Given the description of an element on the screen output the (x, y) to click on. 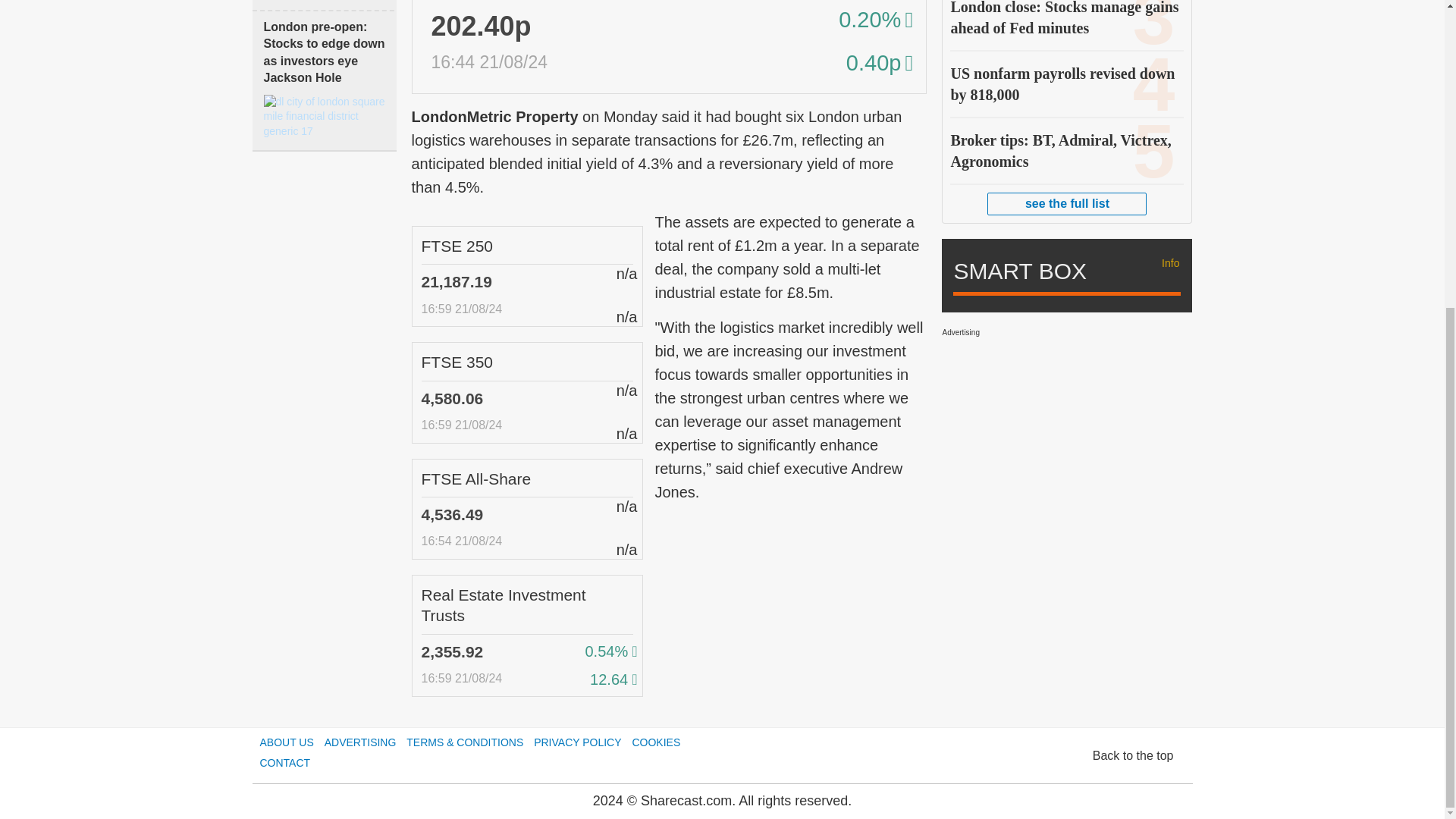
FTSE All-Share (476, 478)
federal reserve dl bonds us usa dollar fx (325, 744)
ecb dl 3 euro bonds frankfurt germany economy (325, 606)
FTSE 250 (457, 245)
FTSE 350 (457, 361)
dl city of london square mile financial district generic 17 (325, 117)
Real Estate Investment Trusts (504, 605)
